Given the description of an element on the screen output the (x, y) to click on. 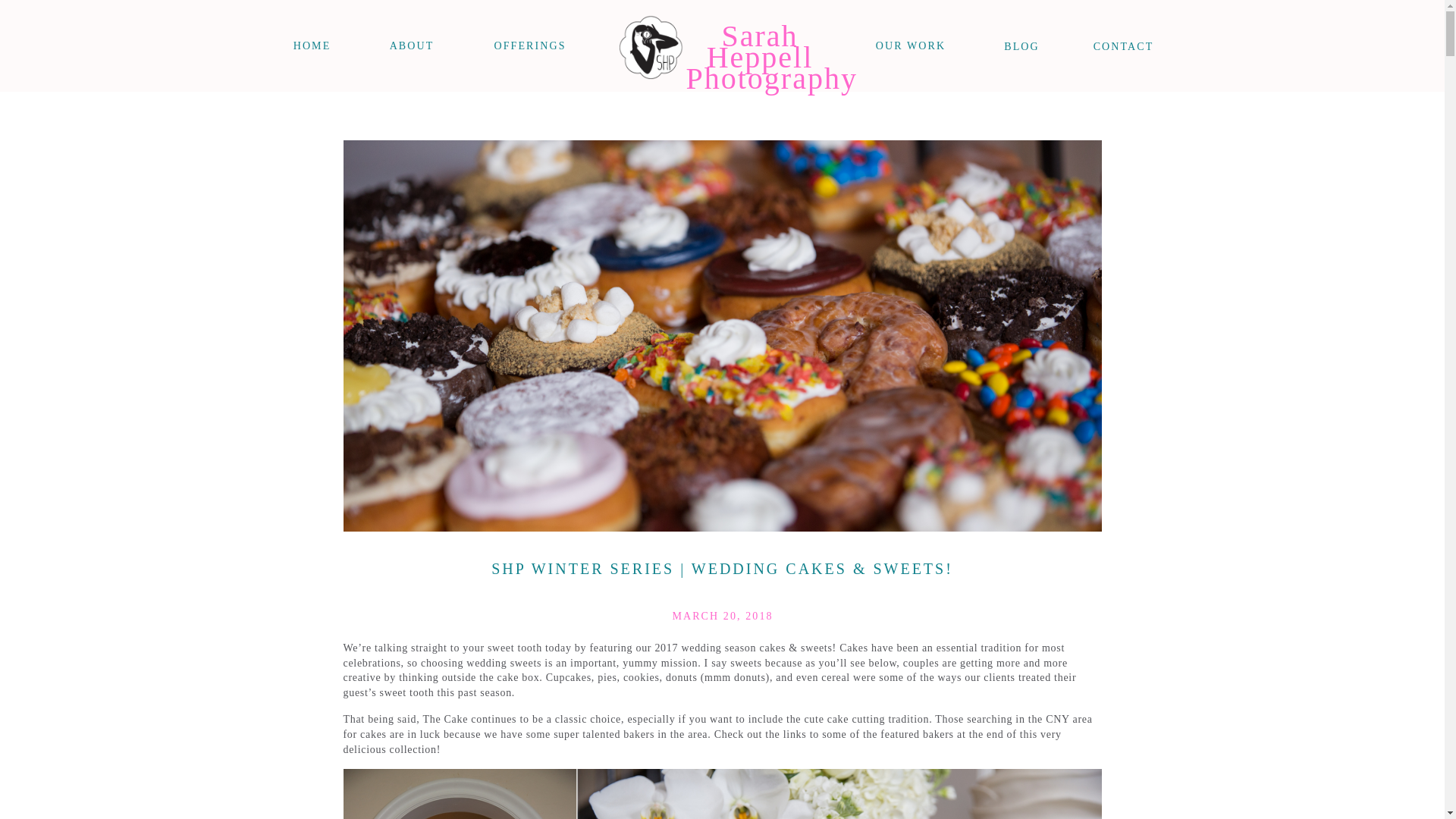
OUR WORK (910, 46)
BLOG (1022, 47)
OFFERINGS (758, 38)
CONTACT (529, 46)
ABOUT (1124, 47)
HOME (411, 46)
